Given the description of an element on the screen output the (x, y) to click on. 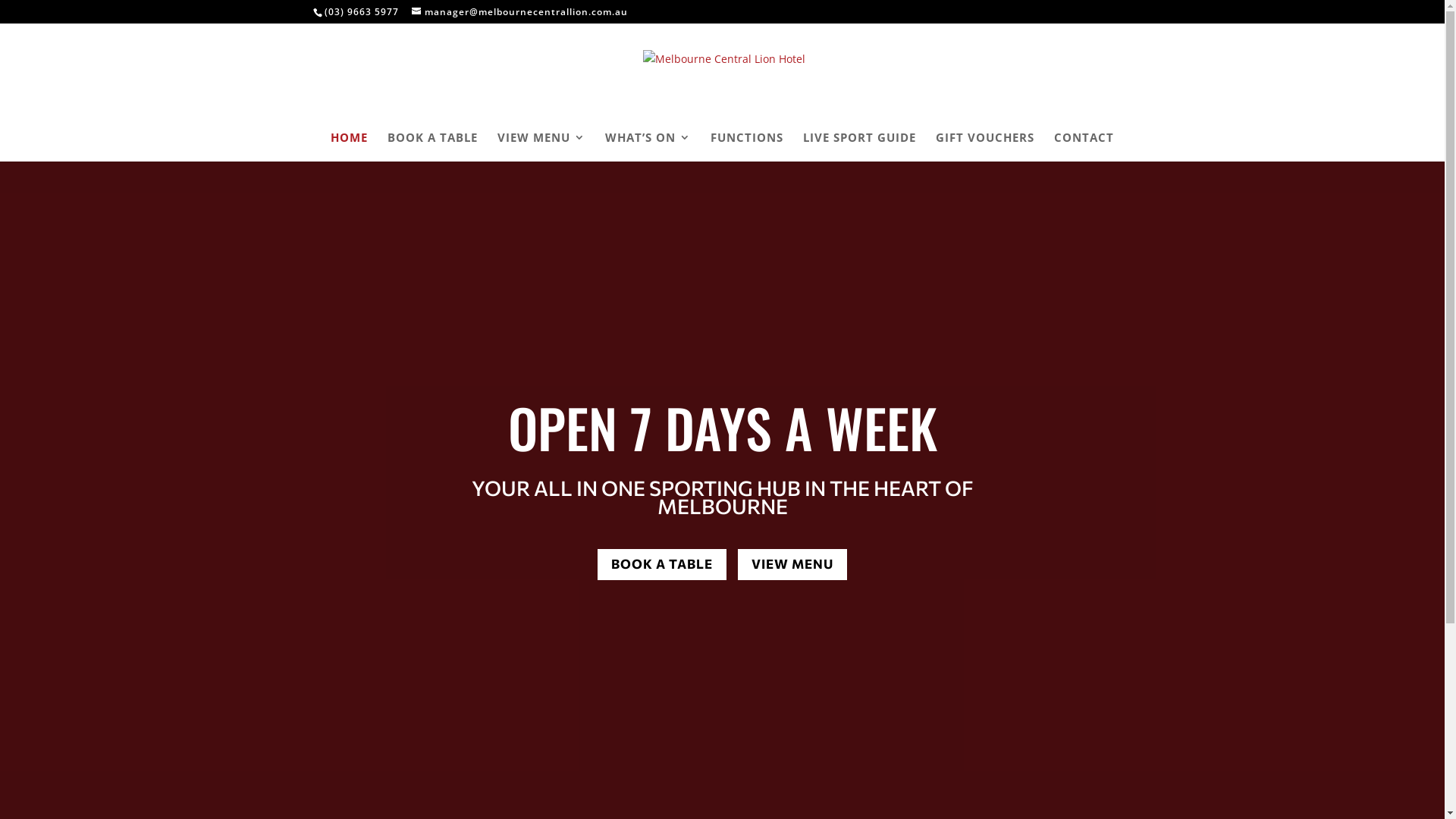
CONTACT Element type: text (1083, 146)
HOME Element type: text (348, 146)
VIEW MENU Element type: text (541, 146)
GIFT VOUCHERS Element type: text (984, 146)
(03) 9663 5977 Element type: text (361, 11)
manager@melbournecentrallion.com.au Element type: text (519, 11)
VIEW MENU Element type: text (792, 564)
FUNCTIONS Element type: text (746, 146)
BOOK A TABLE Element type: text (661, 564)
LIVE SPORT GUIDE Element type: text (859, 146)
BOOK A TABLE Element type: text (432, 146)
